Given the description of an element on the screen output the (x, y) to click on. 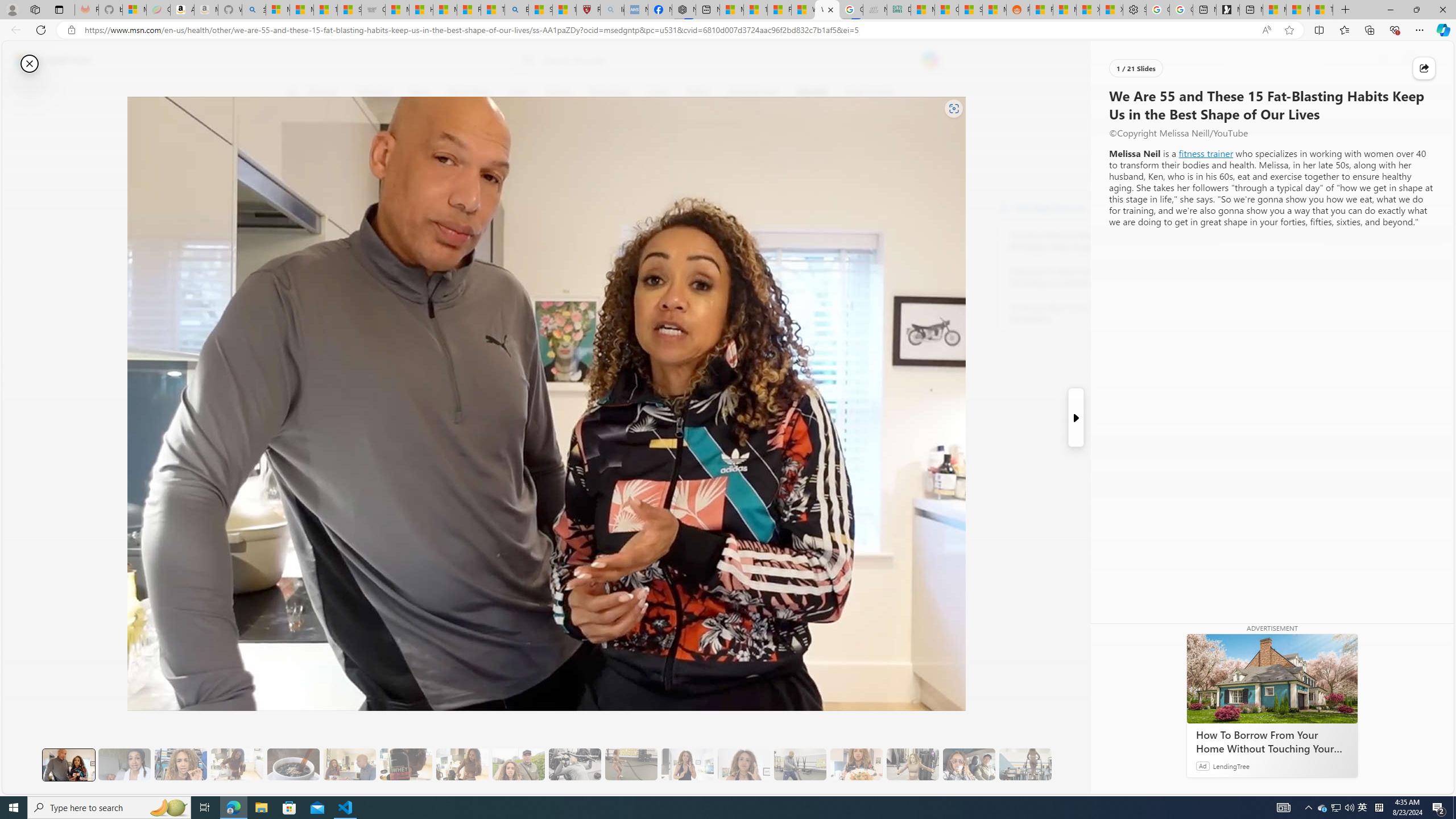
9 They Do Bench Exercises (574, 764)
Open navigation menu (292, 92)
Lifestyle (812, 92)
Lifestyle (812, 92)
12 Popular Science Lies that Must be Corrected (563, 9)
Bing (515, 9)
fitness trainer (1205, 152)
Web search (526, 60)
